Given the description of an element on the screen output the (x, y) to click on. 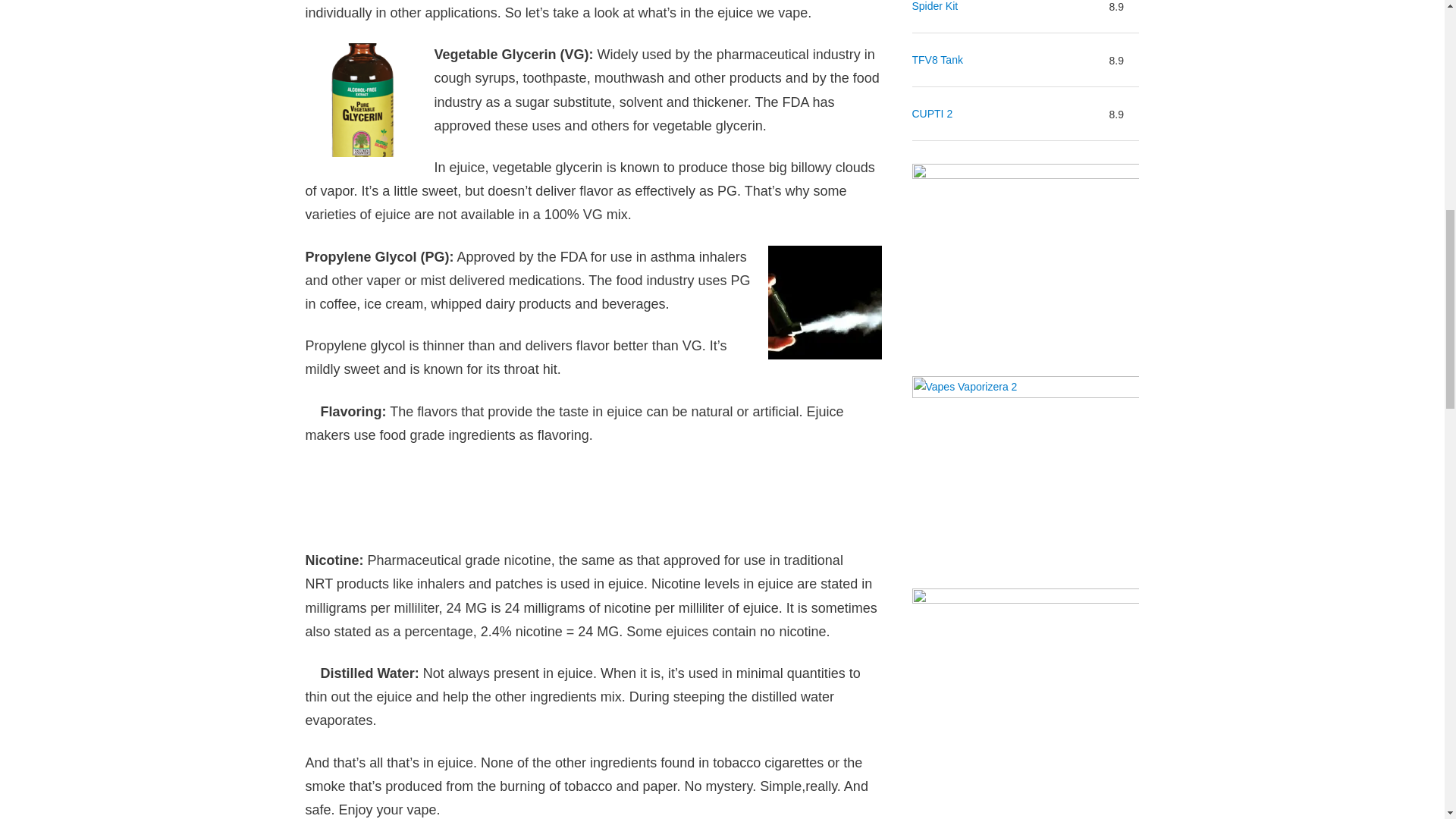
TFV8 Tank (936, 59)
CUPTI 2 (931, 113)
Vapes Vaporizera 2 (1024, 470)
Spider Kit (934, 7)
